Given the description of an element on the screen output the (x, y) to click on. 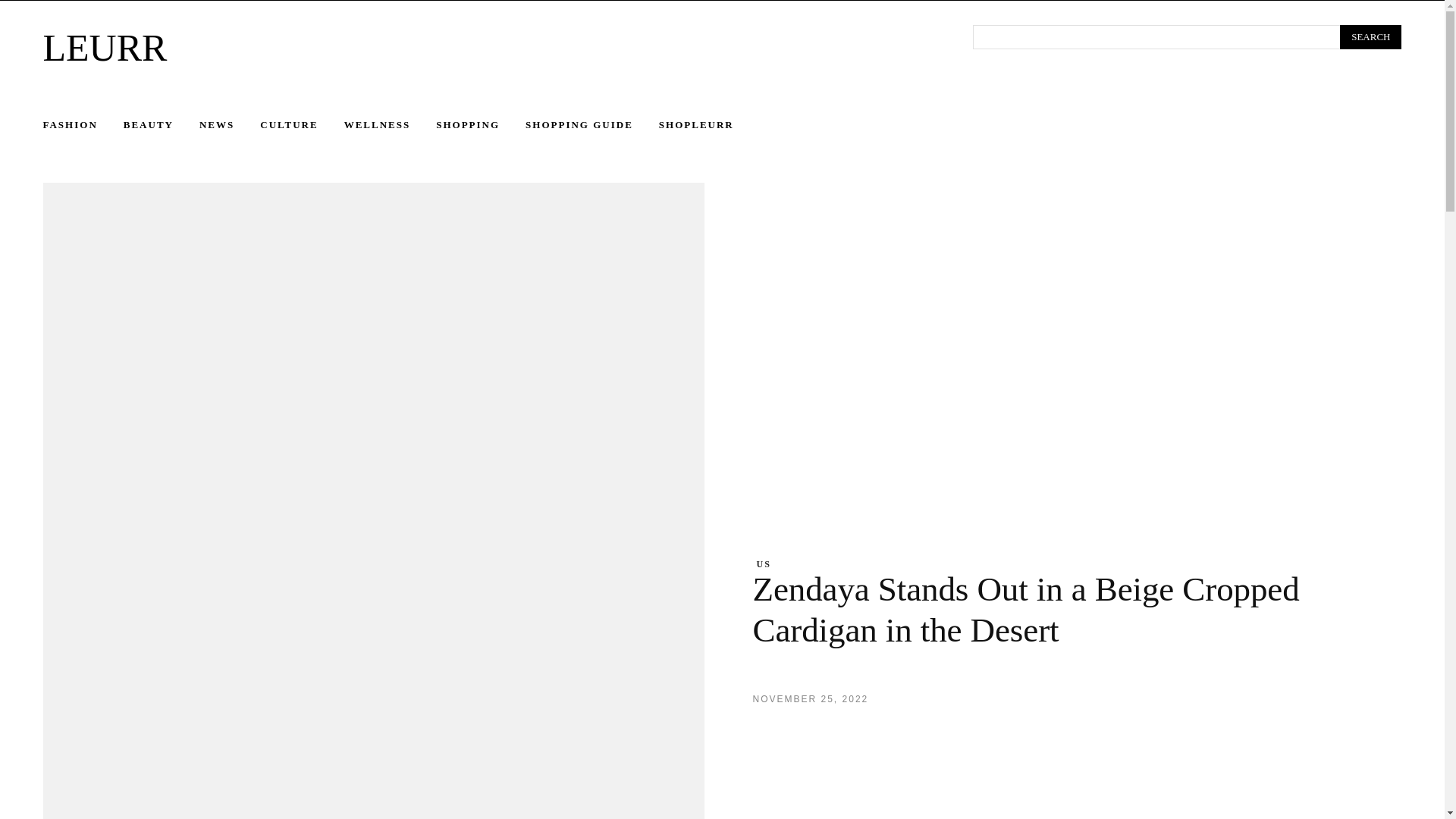
SHOPPING GUIDE (592, 125)
SEARCH (1369, 37)
NEWS (229, 125)
SHOPLEURR (709, 125)
US (764, 563)
LEURR (489, 47)
SHOPPING (480, 125)
CULTURE (301, 125)
BEAUTY (161, 125)
WELLNESS (389, 125)
